Given the description of an element on the screen output the (x, y) to click on. 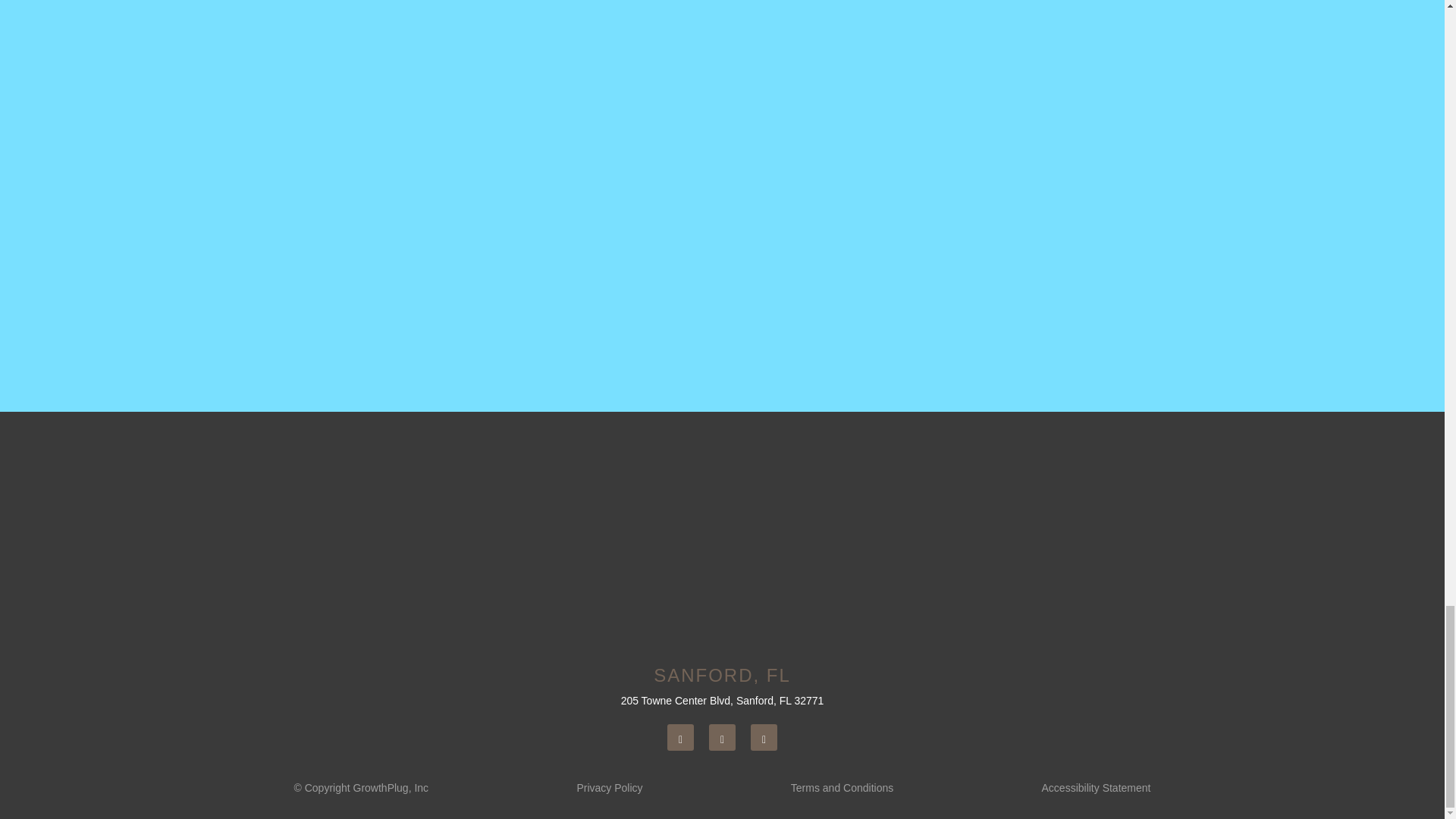
Dental SPA (722, 538)
